Given the description of an element on the screen output the (x, y) to click on. 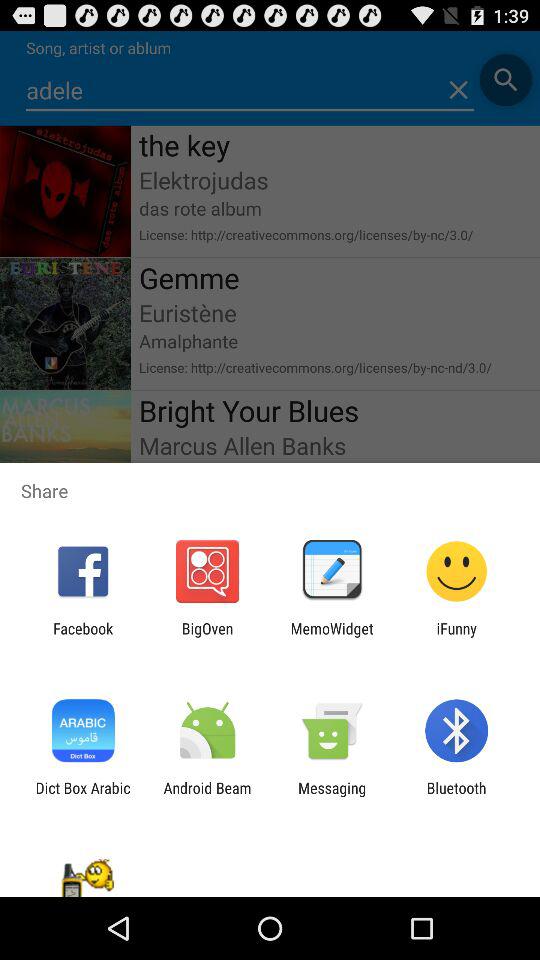
launch the icon to the right of android beam icon (332, 796)
